Given the description of an element on the screen output the (x, y) to click on. 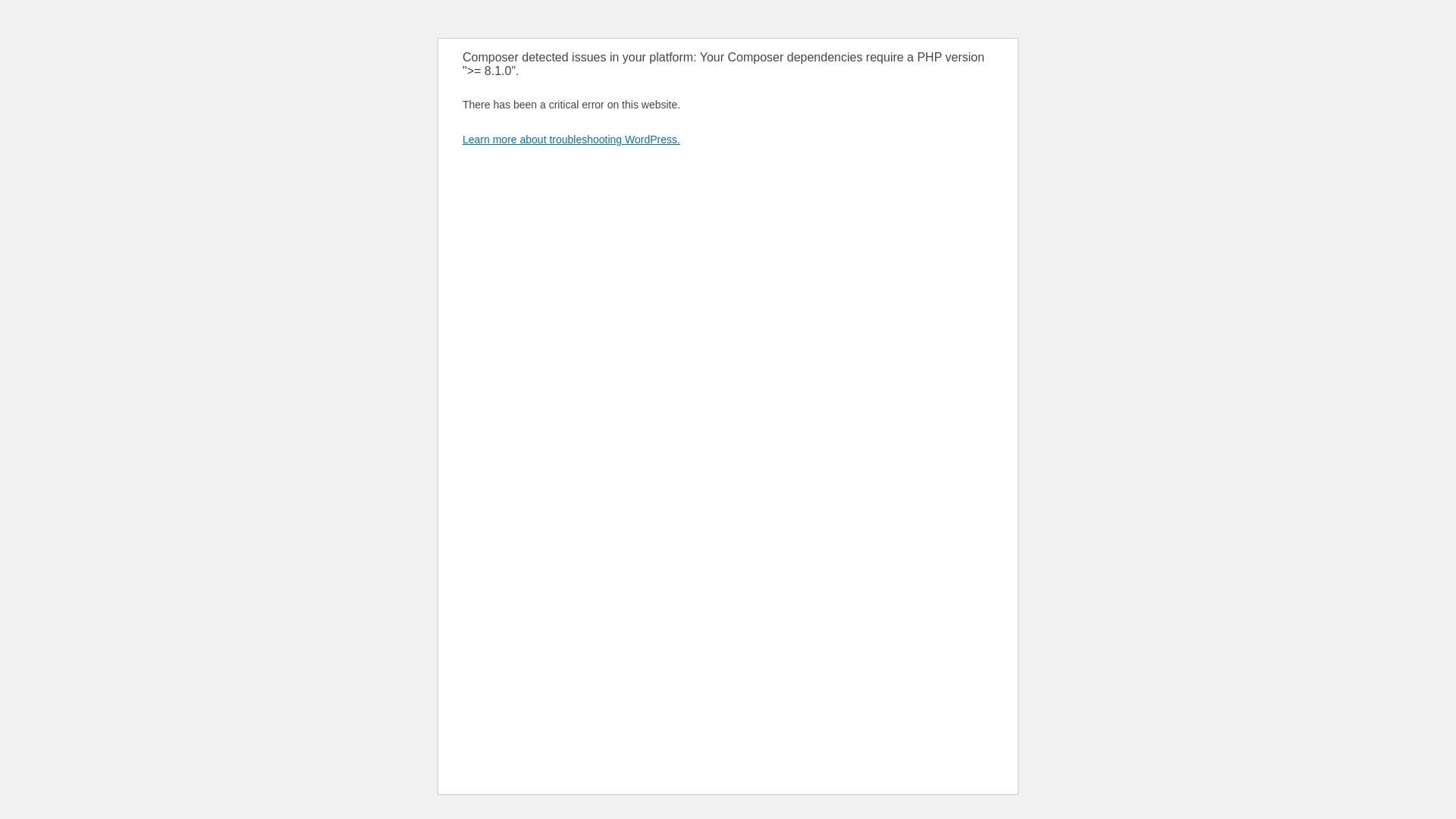
Learn more about troubleshooting WordPress. Element type: text (571, 139)
